Given the description of an element on the screen output the (x, y) to click on. 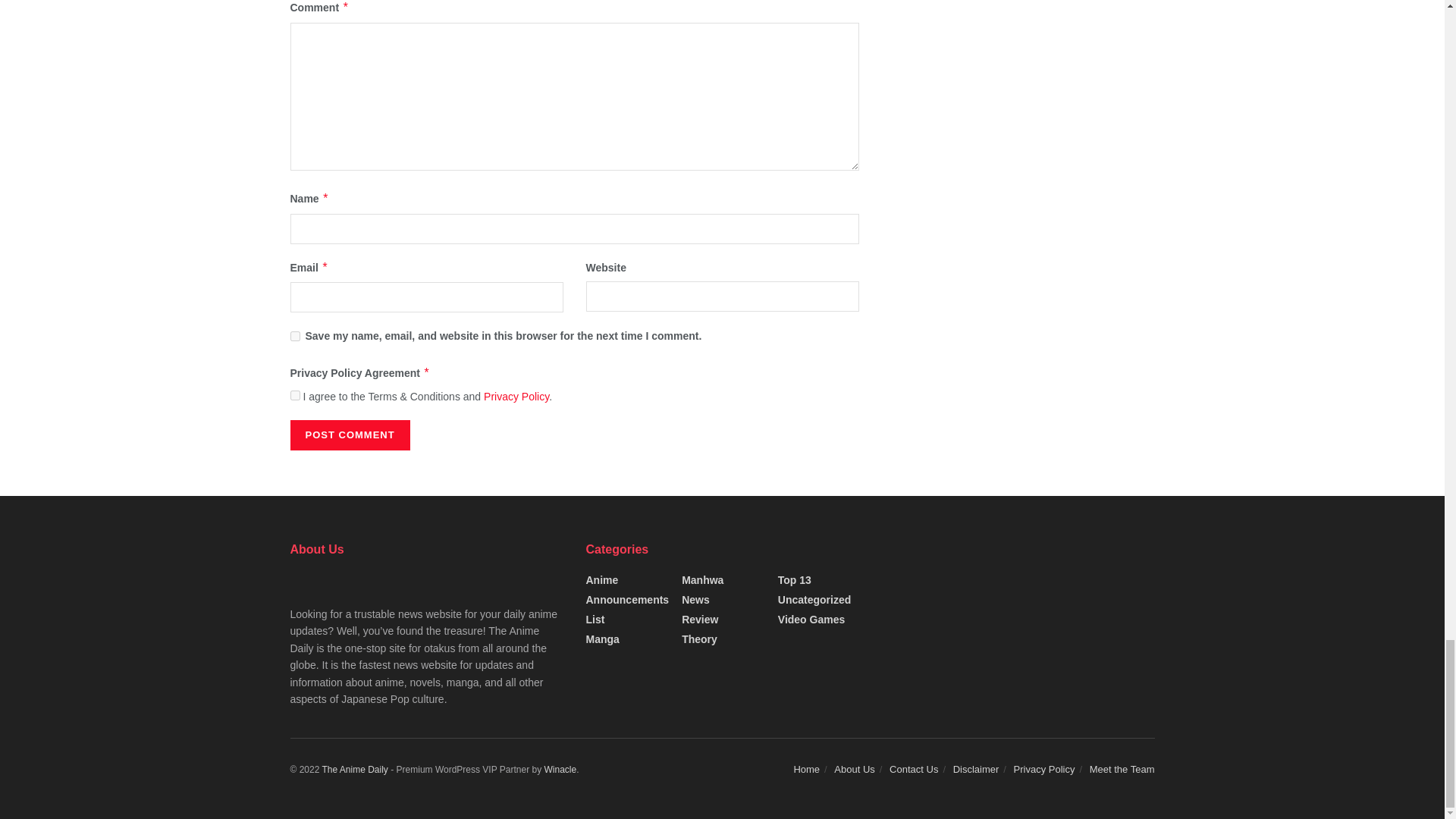
Post Comment (349, 435)
Winacle (560, 769)
yes (294, 336)
on (294, 395)
